Given the description of an element on the screen output the (x, y) to click on. 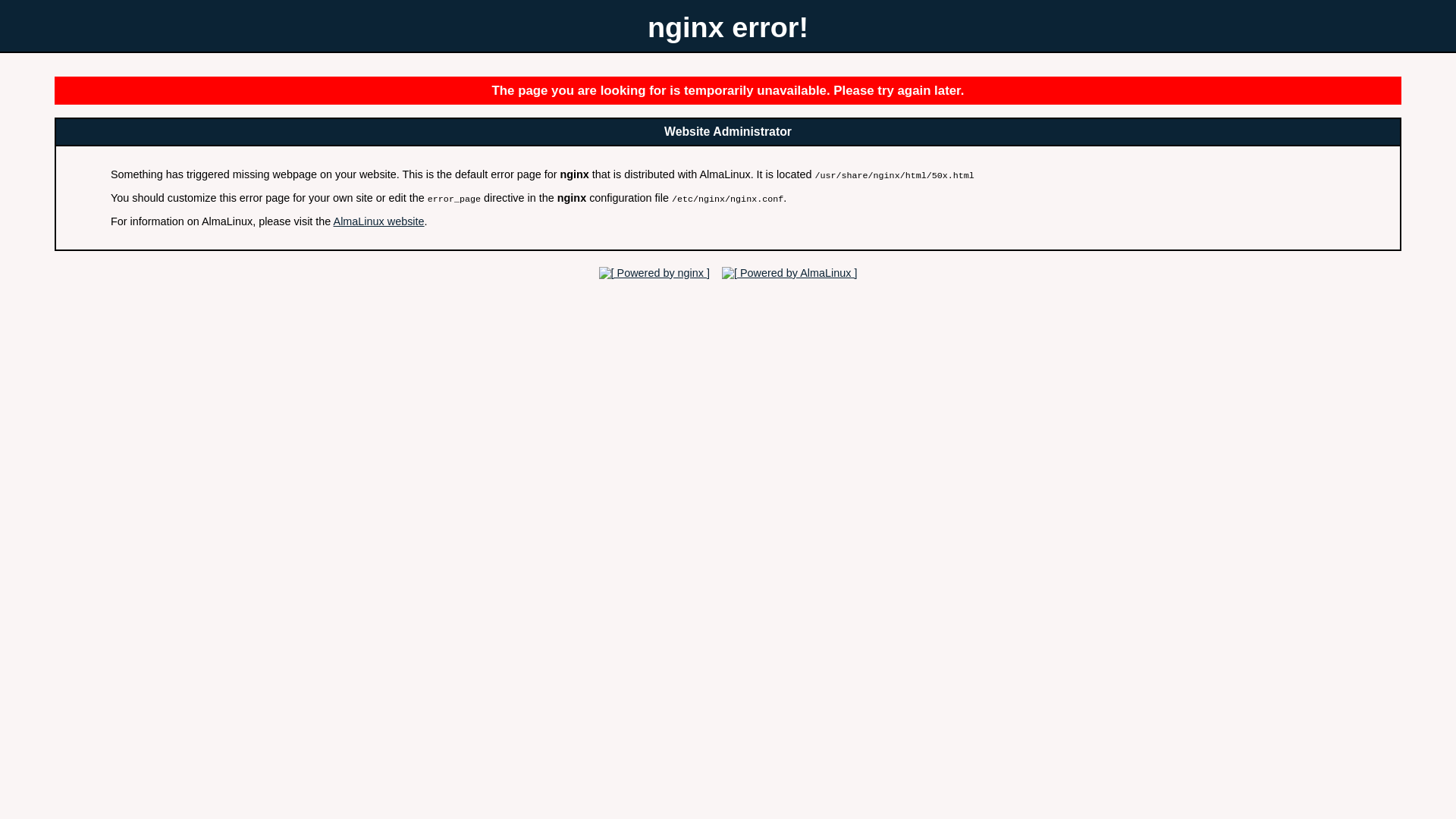
AlmaLinux website (379, 221)
